Given the description of an element on the screen output the (x, y) to click on. 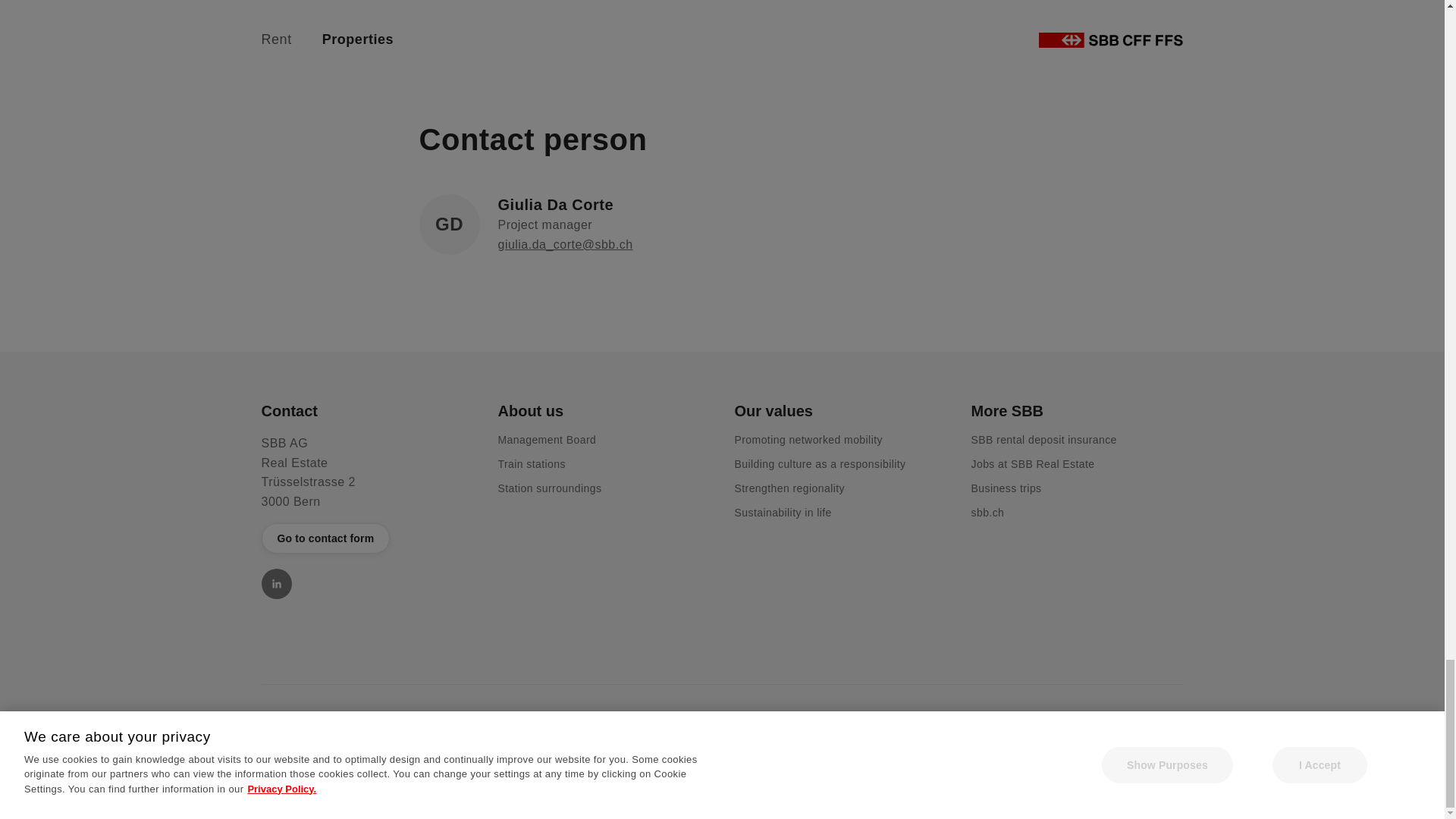
Promoting networked mobility (807, 439)
Train stations (530, 463)
Contact (366, 410)
Management Board (546, 439)
Our values (839, 410)
English (314, 733)
Go to contact form (325, 538)
About us (603, 410)
Strengthen regionality (788, 488)
Sustainability in life (782, 512)
